Given the description of an element on the screen output the (x, y) to click on. 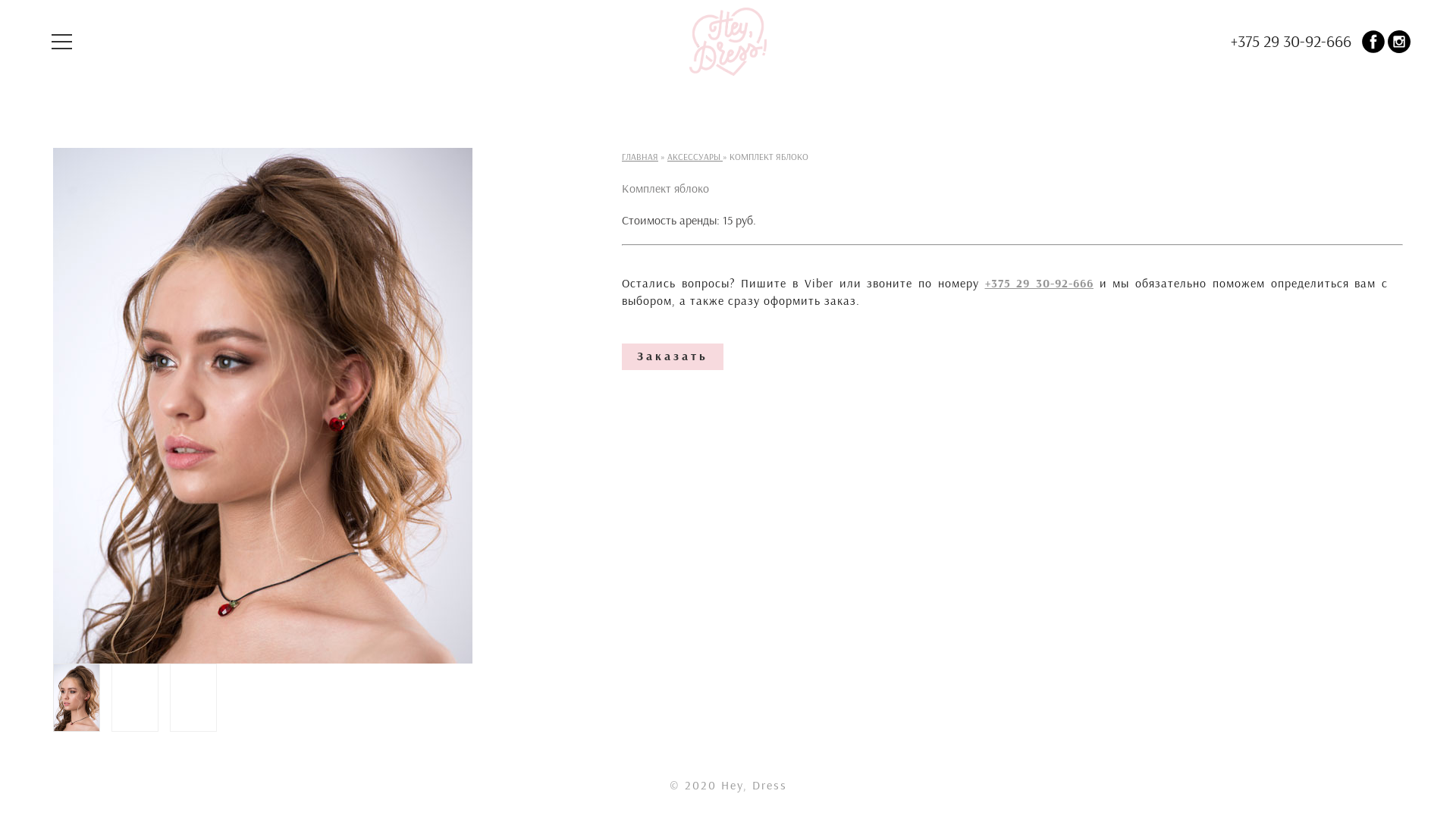
+375 29 30-92-666 Element type: text (1038, 281)
